Given the description of an element on the screen output the (x, y) to click on. 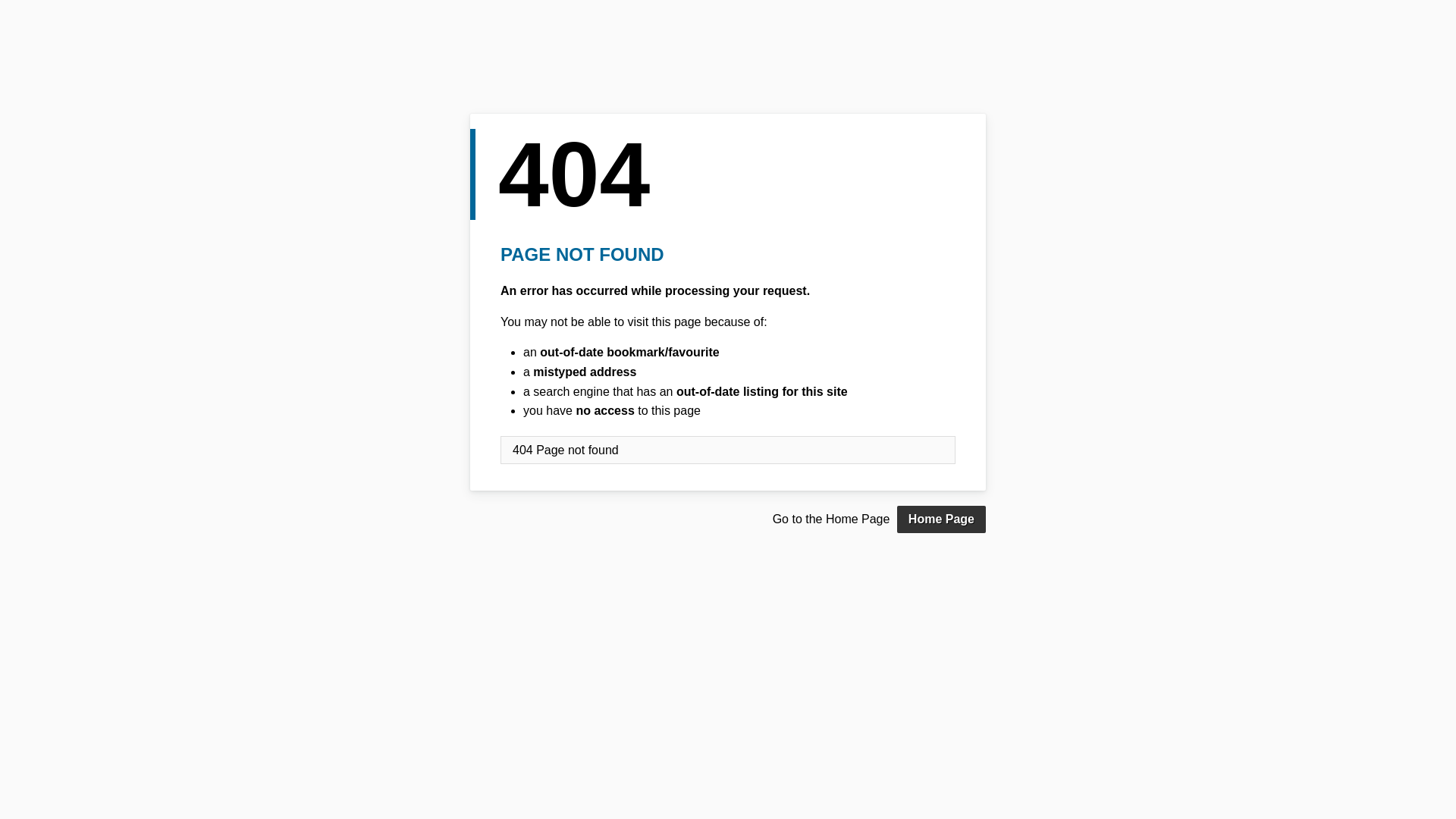
Home Page Element type: text (941, 519)
